Given the description of an element on the screen output the (x, y) to click on. 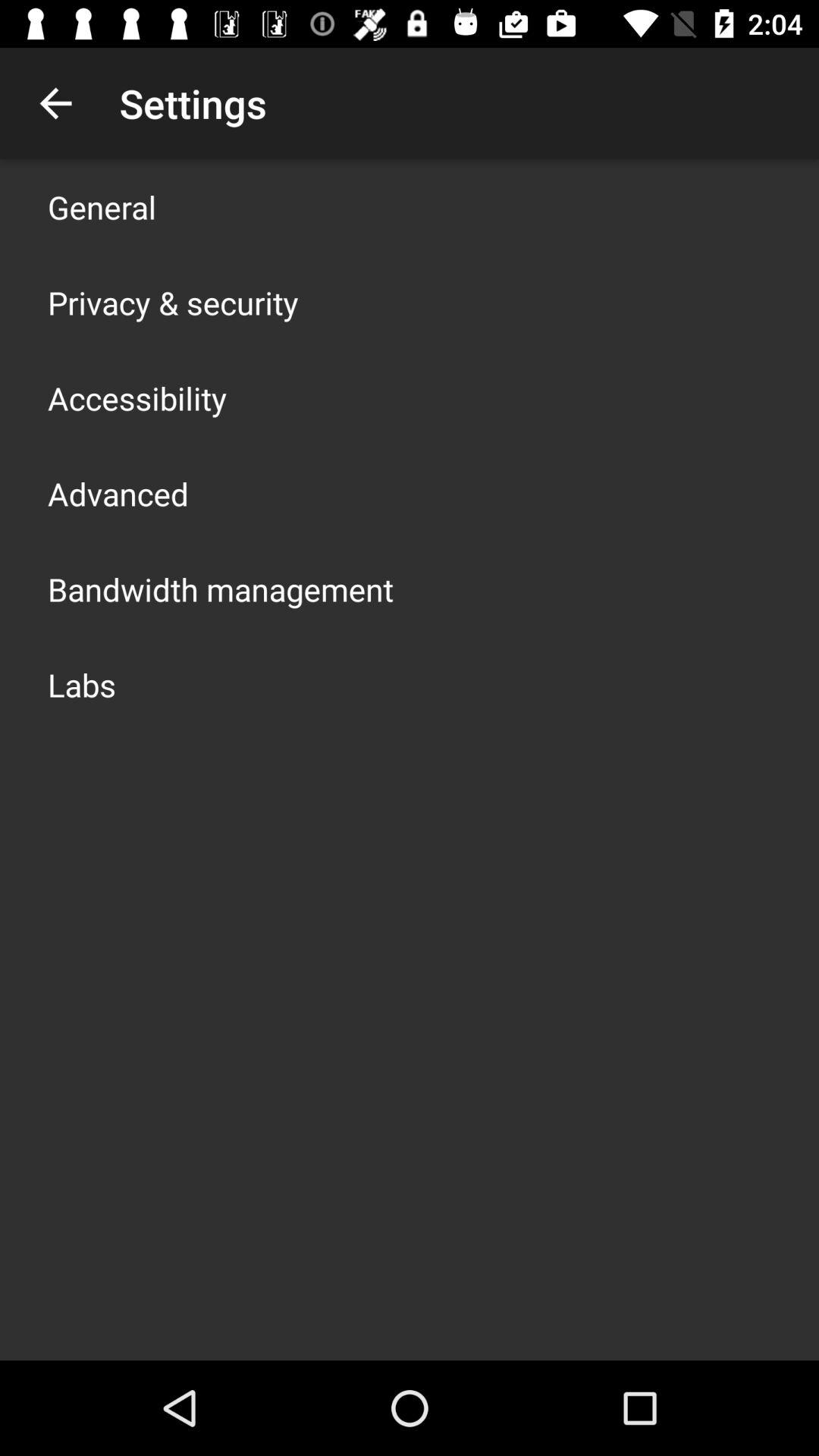
tap item above the accessibility item (172, 302)
